Given the description of an element on the screen output the (x, y) to click on. 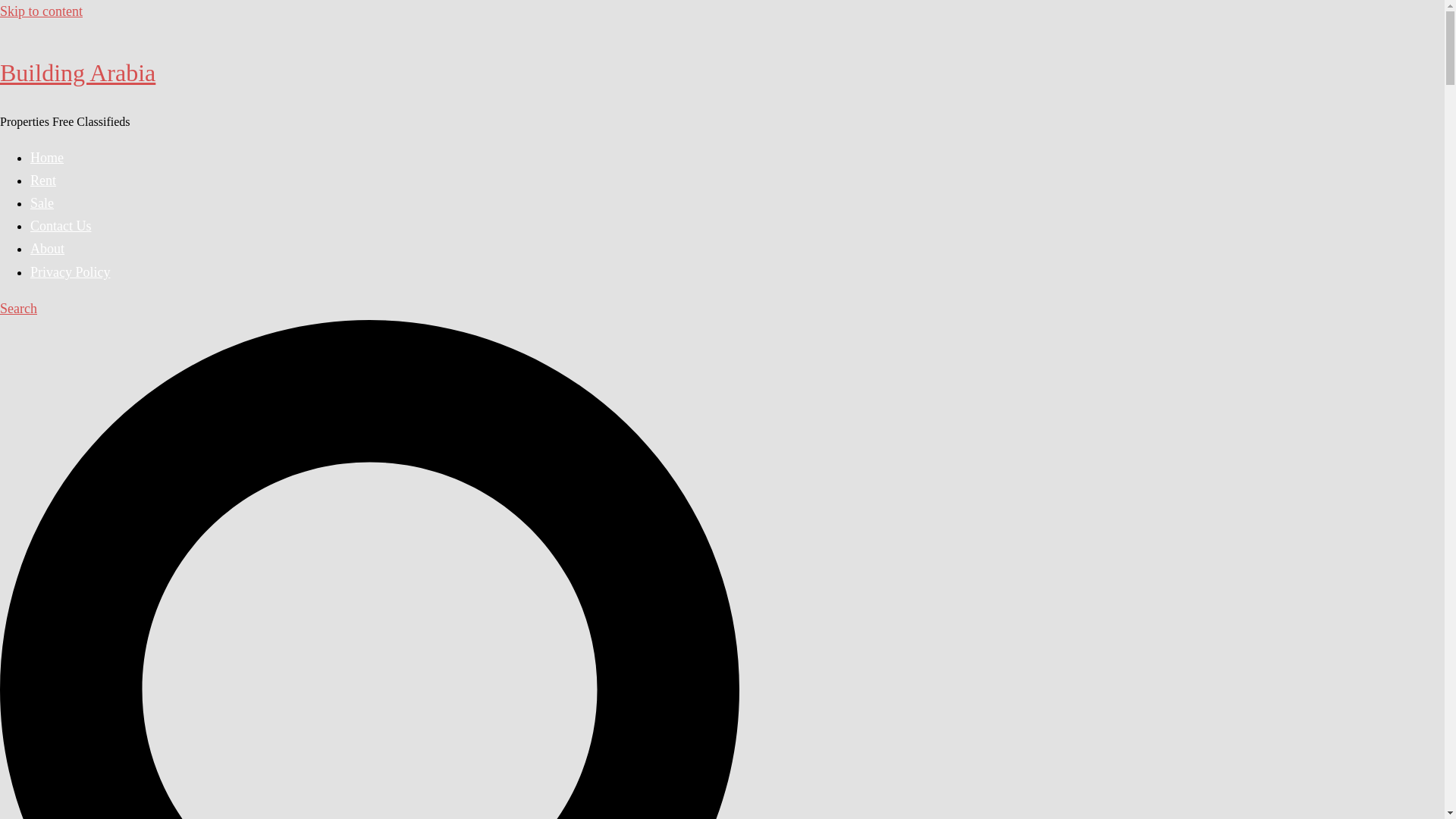
Home (47, 157)
Contact Us (60, 225)
Building Arabia (77, 72)
Rent (43, 180)
Skip to content (41, 11)
Sale (41, 202)
About (47, 248)
Privacy Policy (70, 272)
